Given the description of an element on the screen output the (x, y) to click on. 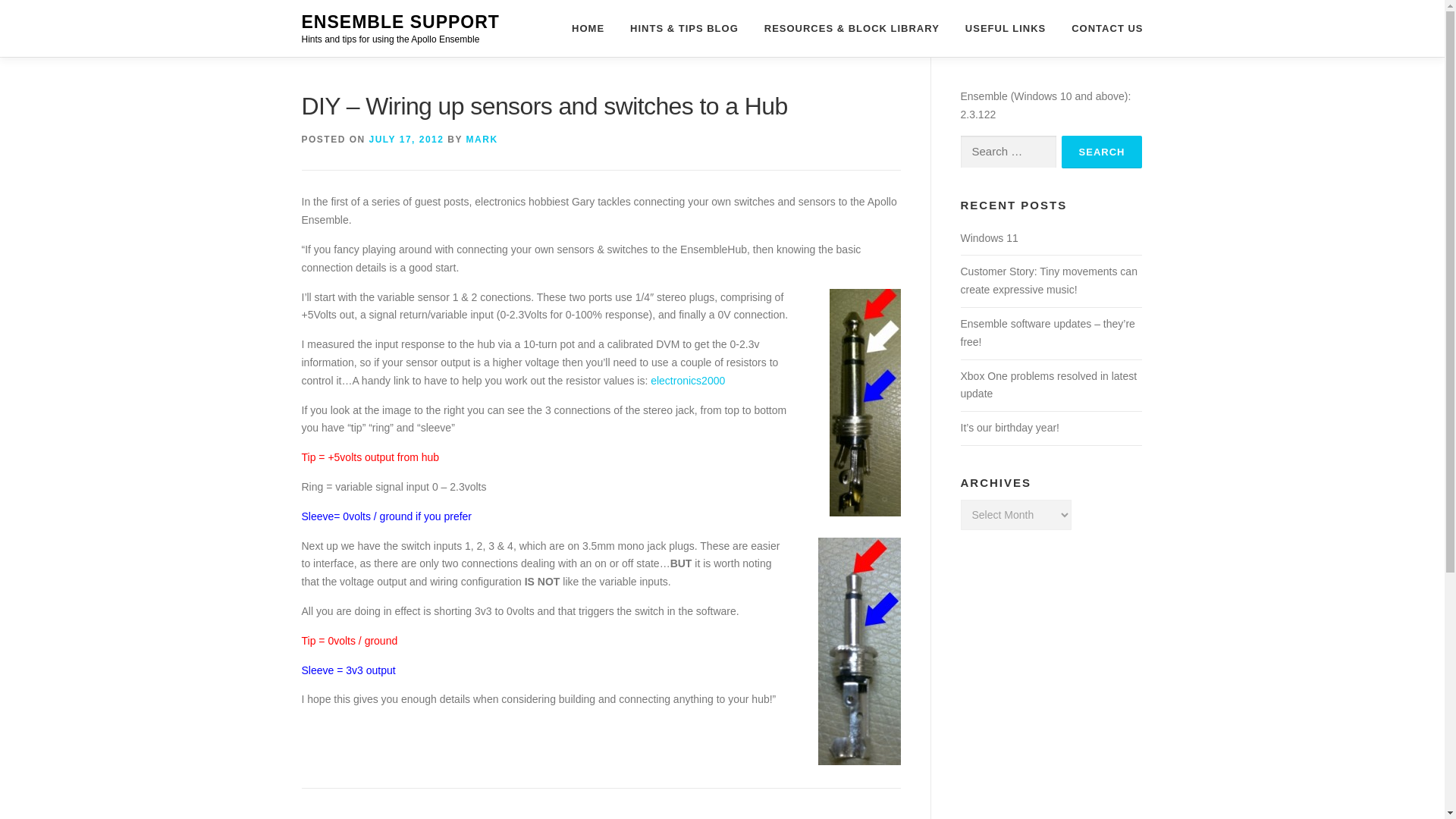
USEFUL LINKS (1005, 28)
MARK (481, 139)
JULY 17, 2012 (406, 139)
Windows 11 (988, 237)
HOME (588, 28)
Search (1101, 151)
Search (1101, 151)
CONTACT US (1100, 28)
electronics2000 (687, 380)
Search (1101, 151)
